Given the description of an element on the screen output the (x, y) to click on. 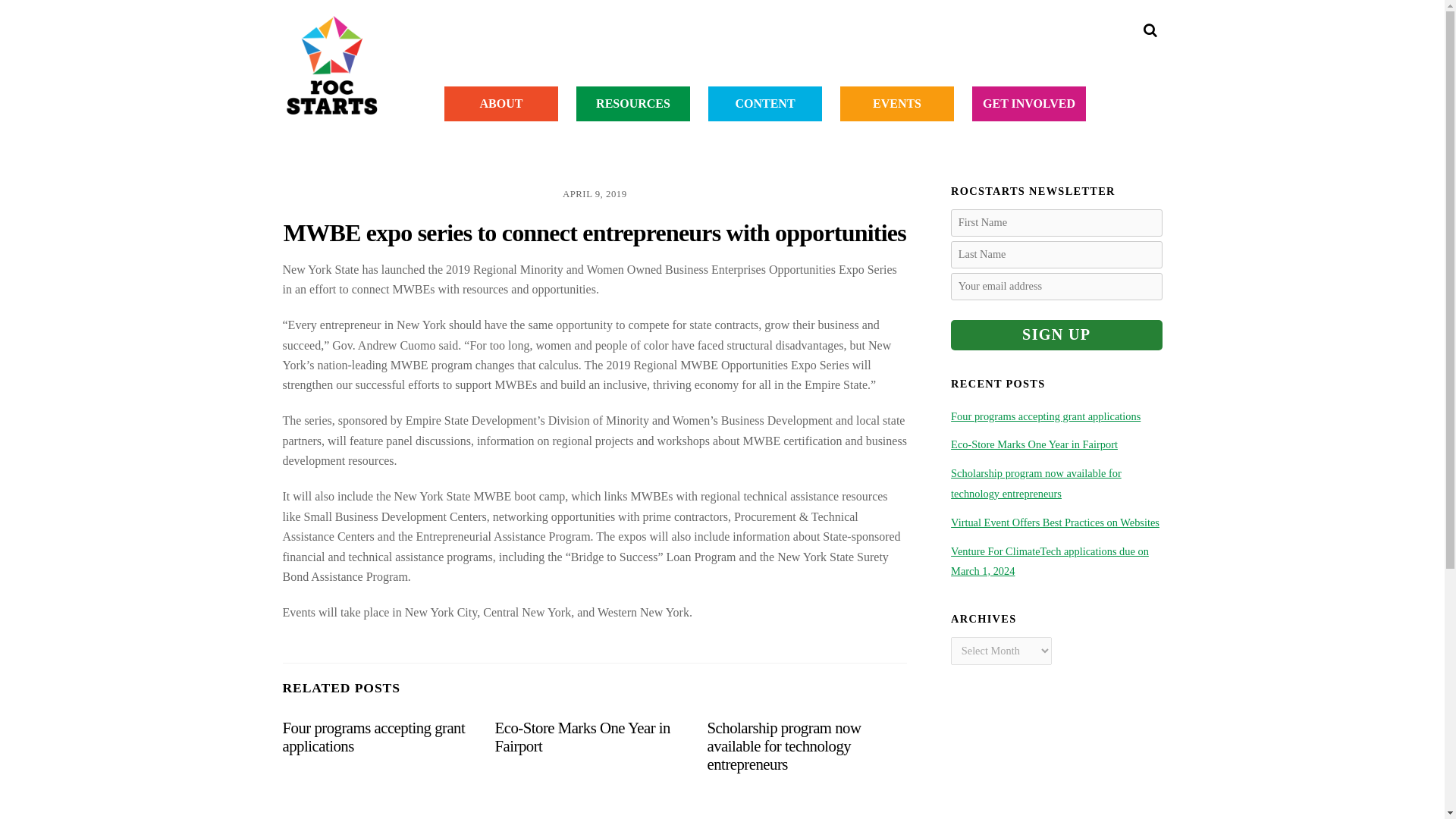
rocSTARTS (331, 106)
Eco-Store Marks One Year in Fairport (582, 736)
Sign up (1055, 335)
rocSTARTS (331, 64)
ABOUT (500, 103)
GET INVOLVED (1029, 103)
EVENTS (896, 103)
Four programs accepting grant applications (373, 736)
RESOURCES (633, 103)
CONTENT (764, 103)
Eco-Store Marks One Year in Fairport (582, 736)
Four programs accepting grant applications (373, 736)
